Given the description of an element on the screen output the (x, y) to click on. 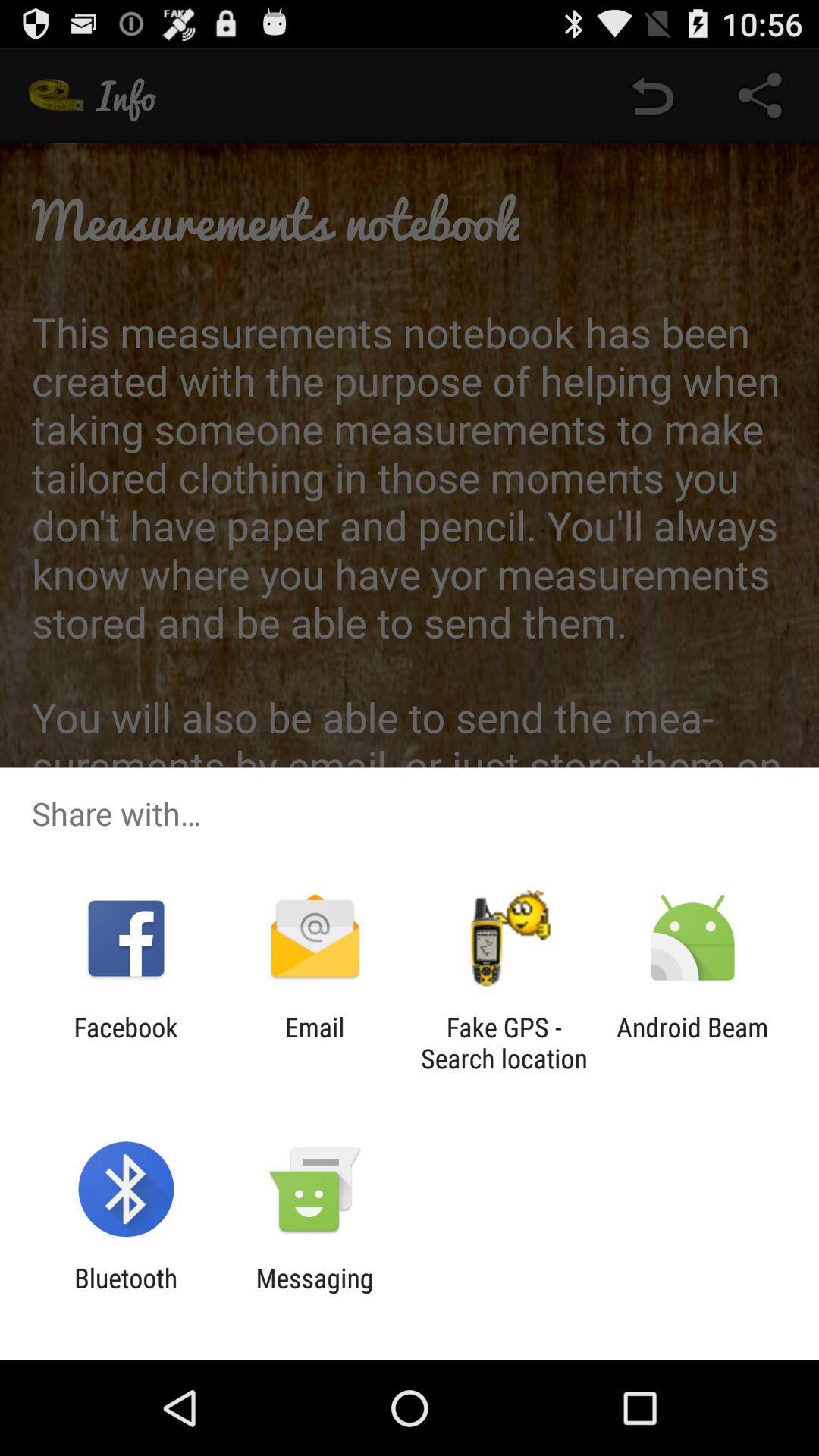
tap the app to the left of email app (125, 1042)
